Given the description of an element on the screen output the (x, y) to click on. 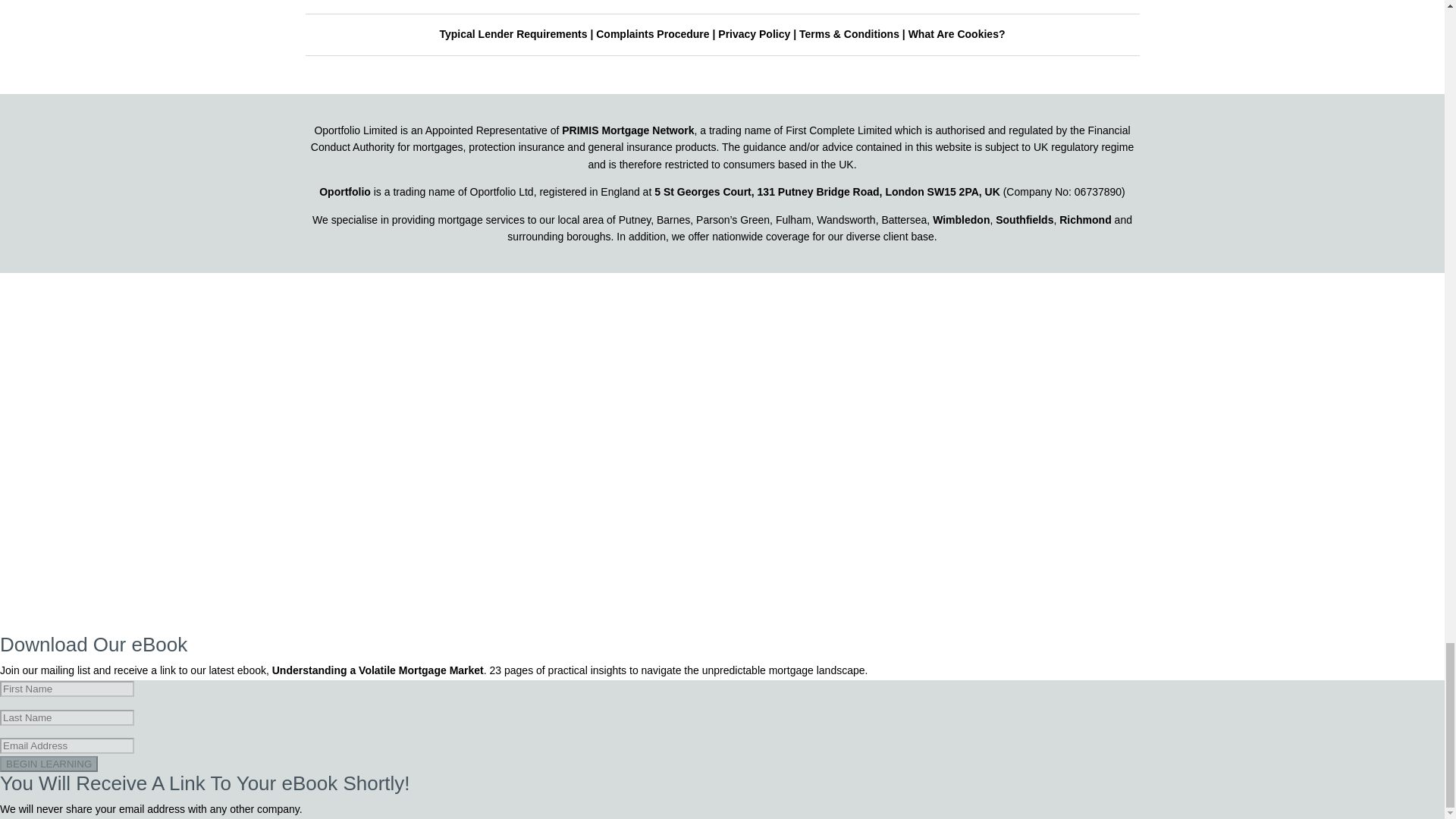
What Is The PRIMIS Mortgage Network? (628, 130)
Find us on Google Maps (826, 191)
Mortgage Broker Richmond (1084, 218)
Mortgage Broker Southfields (1023, 218)
Mortgage Broker Wimbledon (961, 218)
Home (344, 191)
